Given the description of an element on the screen output the (x, y) to click on. 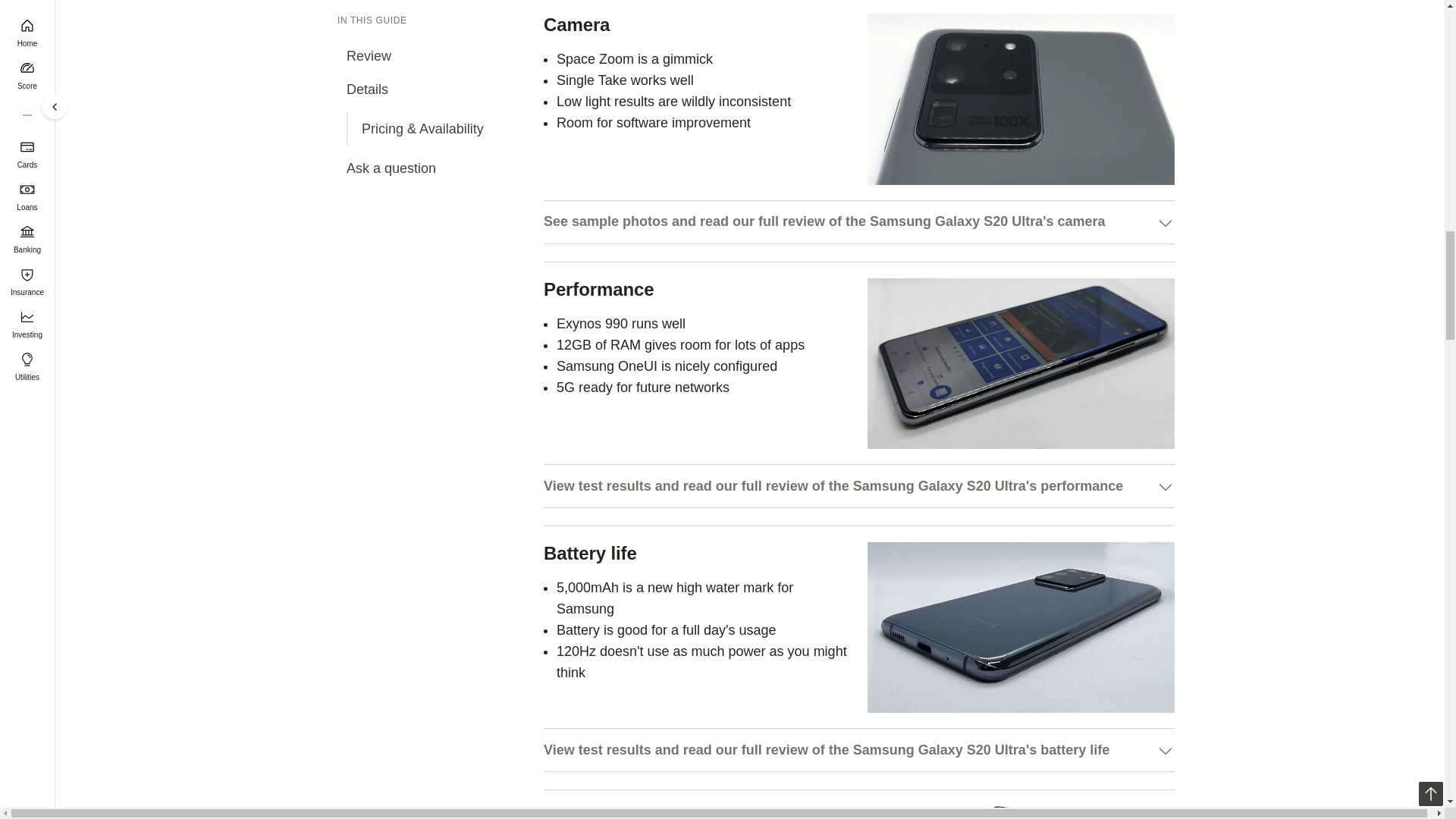
Image: Finder (1020, 98)
Image: Finder (1020, 627)
Image: Finder (1020, 363)
